Given the description of an element on the screen output the (x, y) to click on. 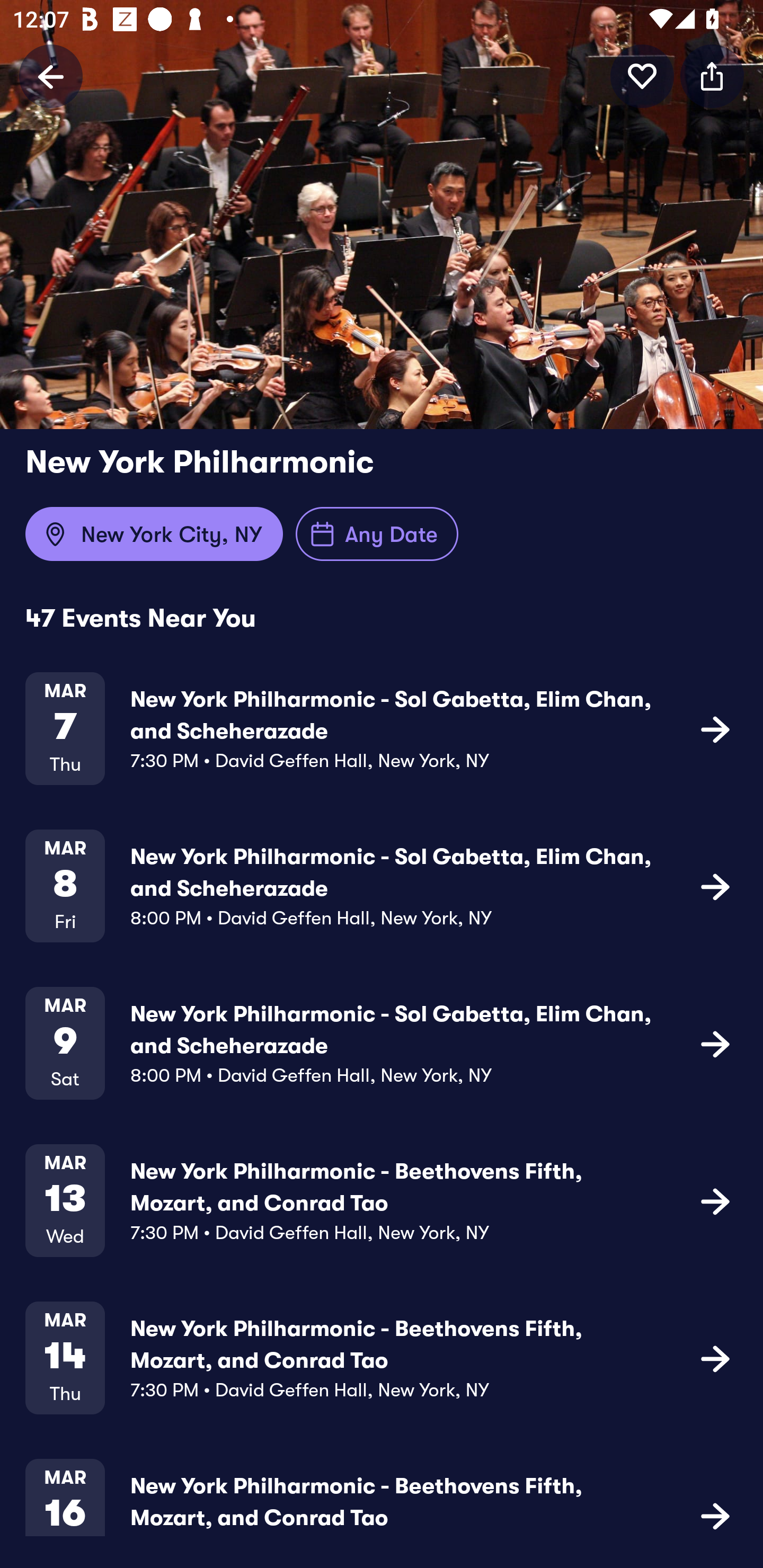
Back (50, 75)
icon button (641, 75)
icon button (711, 75)
New York City, NY (153, 533)
Any Date (377, 533)
icon button (714, 729)
icon button (714, 885)
icon button (714, 1043)
icon button (714, 1201)
icon button (714, 1357)
icon button (714, 1514)
